Given the description of an element on the screen output the (x, y) to click on. 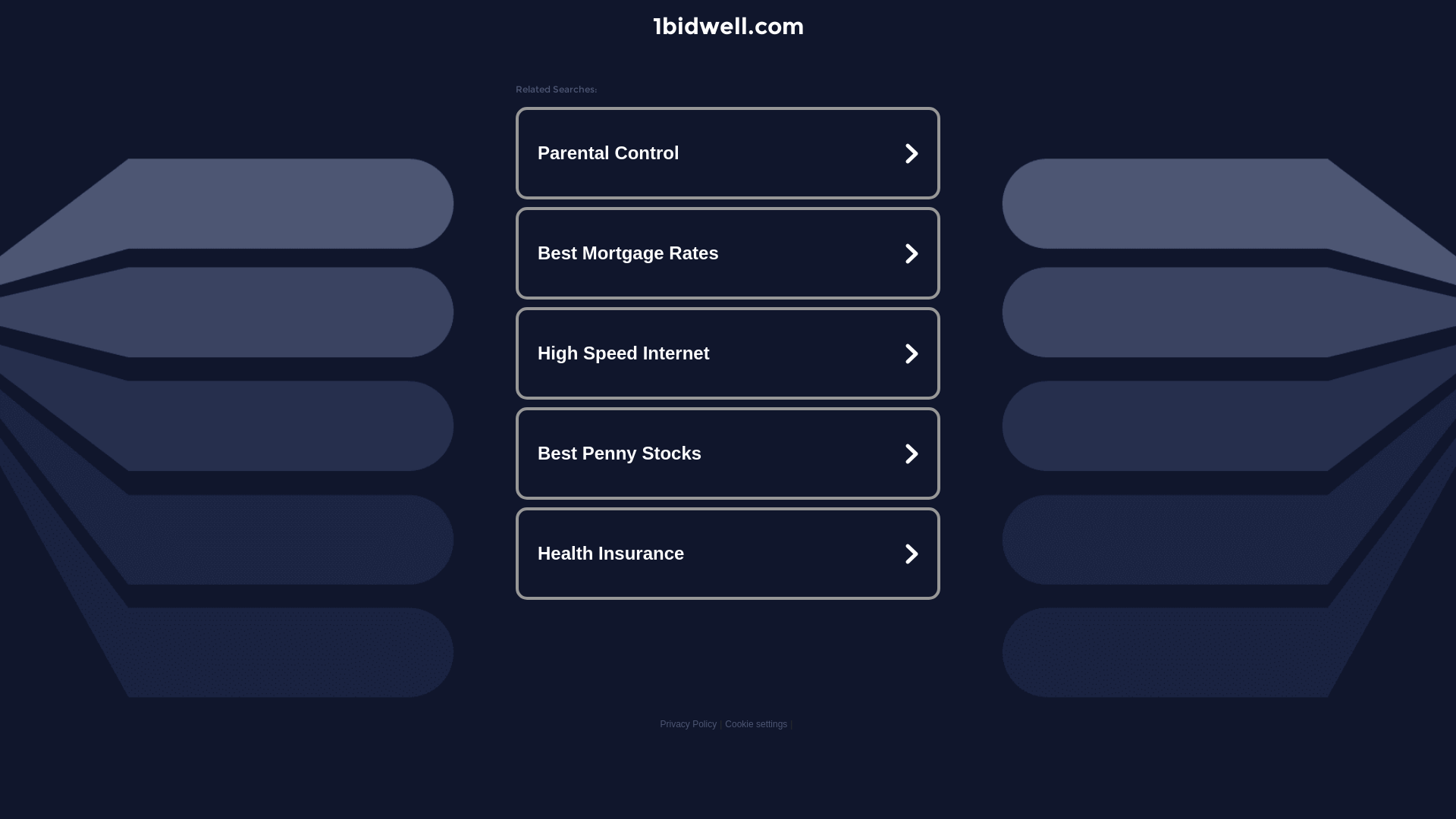
Cookie settings Element type: text (755, 723)
Privacy Policy Element type: text (687, 723)
Best Mortgage Rates Element type: text (727, 253)
Parental Control Element type: text (727, 152)
1bidwell.com Element type: text (727, 26)
Best Penny Stocks Element type: text (727, 453)
High Speed Internet Element type: text (727, 353)
Health Insurance Element type: text (727, 553)
